Given the description of an element on the screen output the (x, y) to click on. 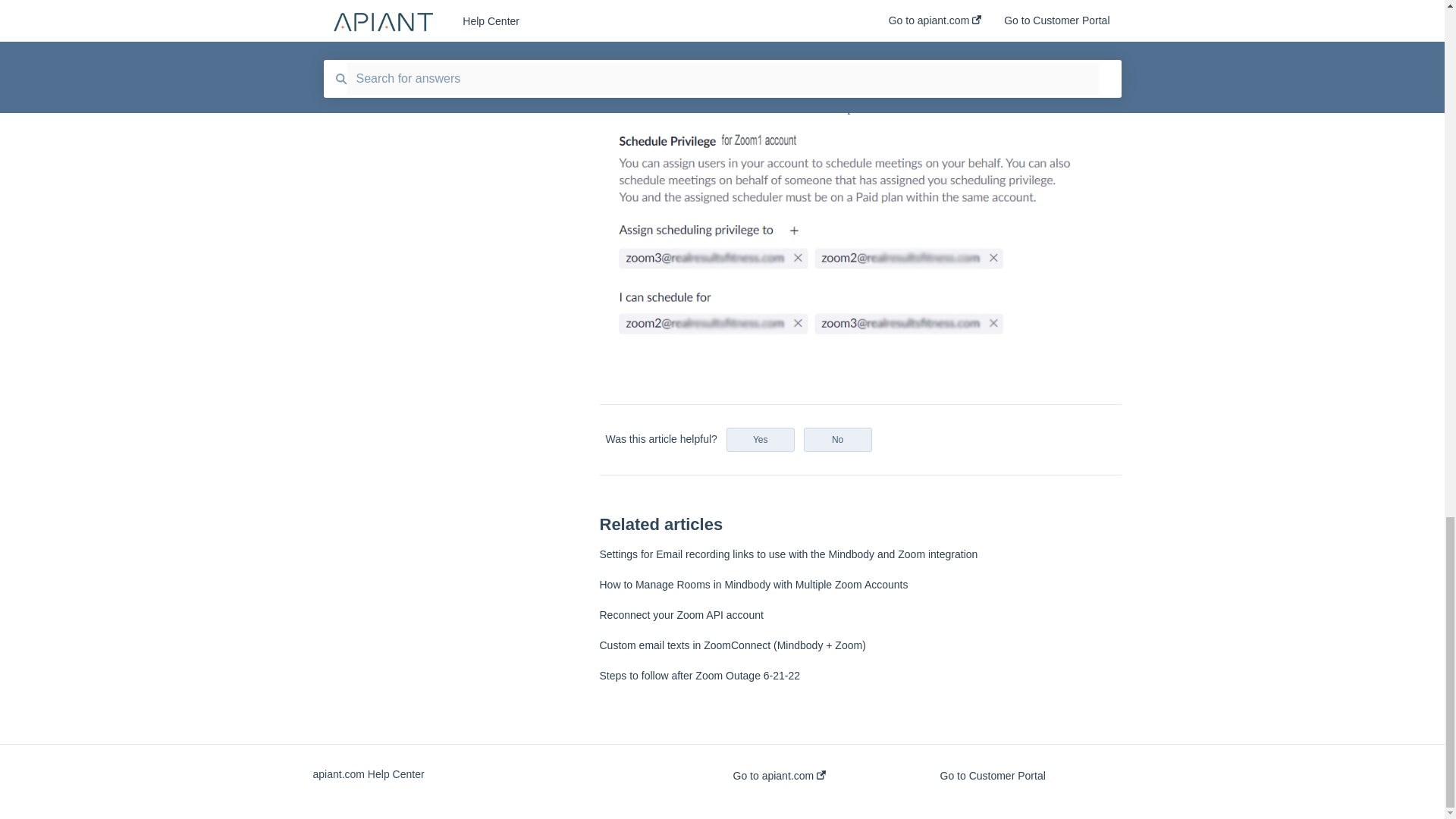
No (837, 439)
Steps to follow after Zoom Outage 6-21-22 (698, 674)
How to Manage Rooms in Mindbody with Multiple Zoom Accounts (752, 583)
Yes (760, 439)
Reconnect your Zoom API account (680, 613)
Go to apiant.com (778, 775)
Go to Customer Portal (992, 775)
